Given the description of an element on the screen output the (x, y) to click on. 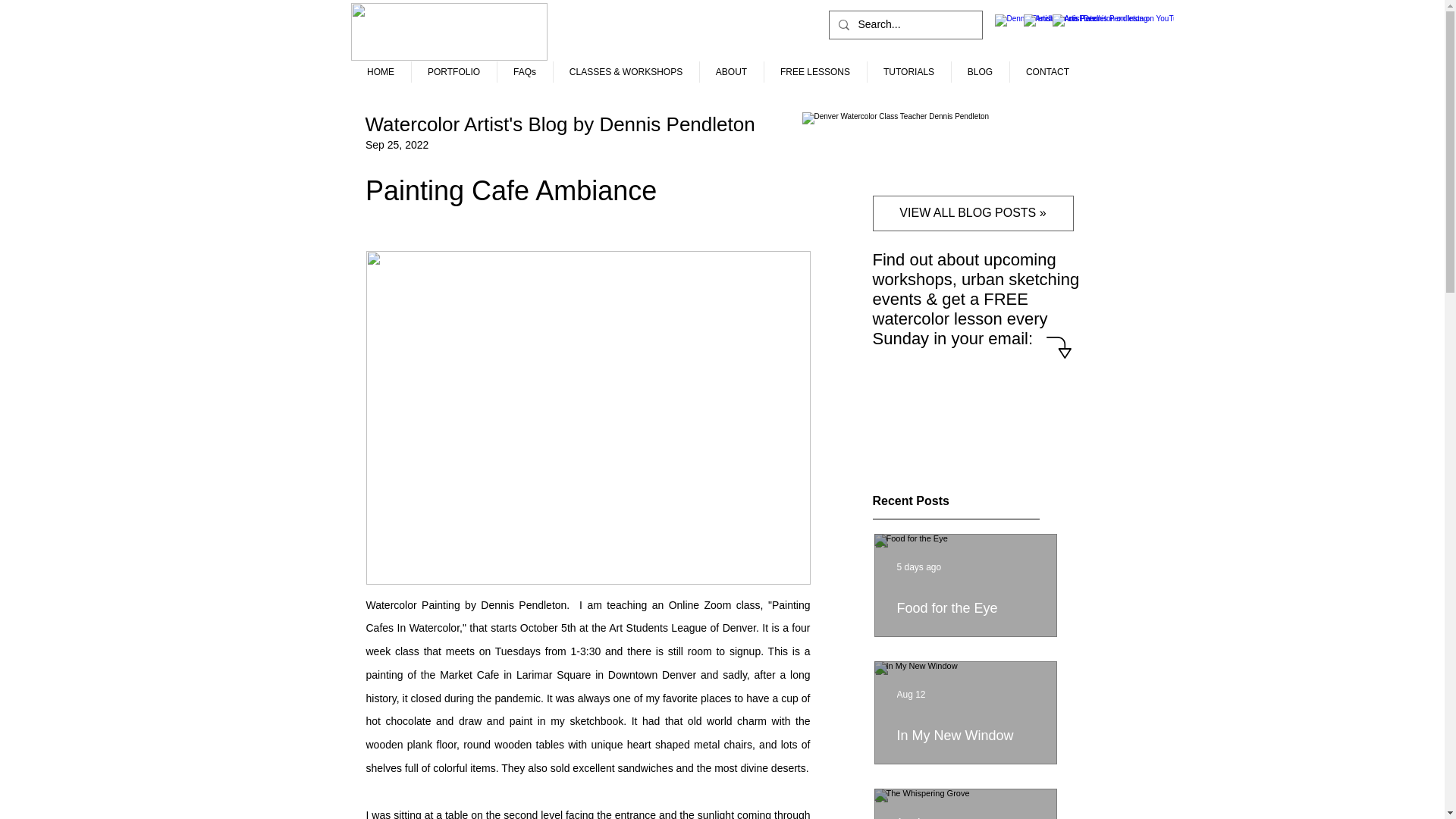
TUTORIALS (908, 71)
Sep 25, 2022 (396, 144)
PORTFOLIO (453, 71)
BLOG (979, 71)
Aug 4 (908, 817)
FREE LESSONS (815, 71)
CONTACT (1048, 71)
FAQs (525, 71)
5 days ago (918, 566)
Aug 12 (910, 694)
